Given the description of an element on the screen output the (x, y) to click on. 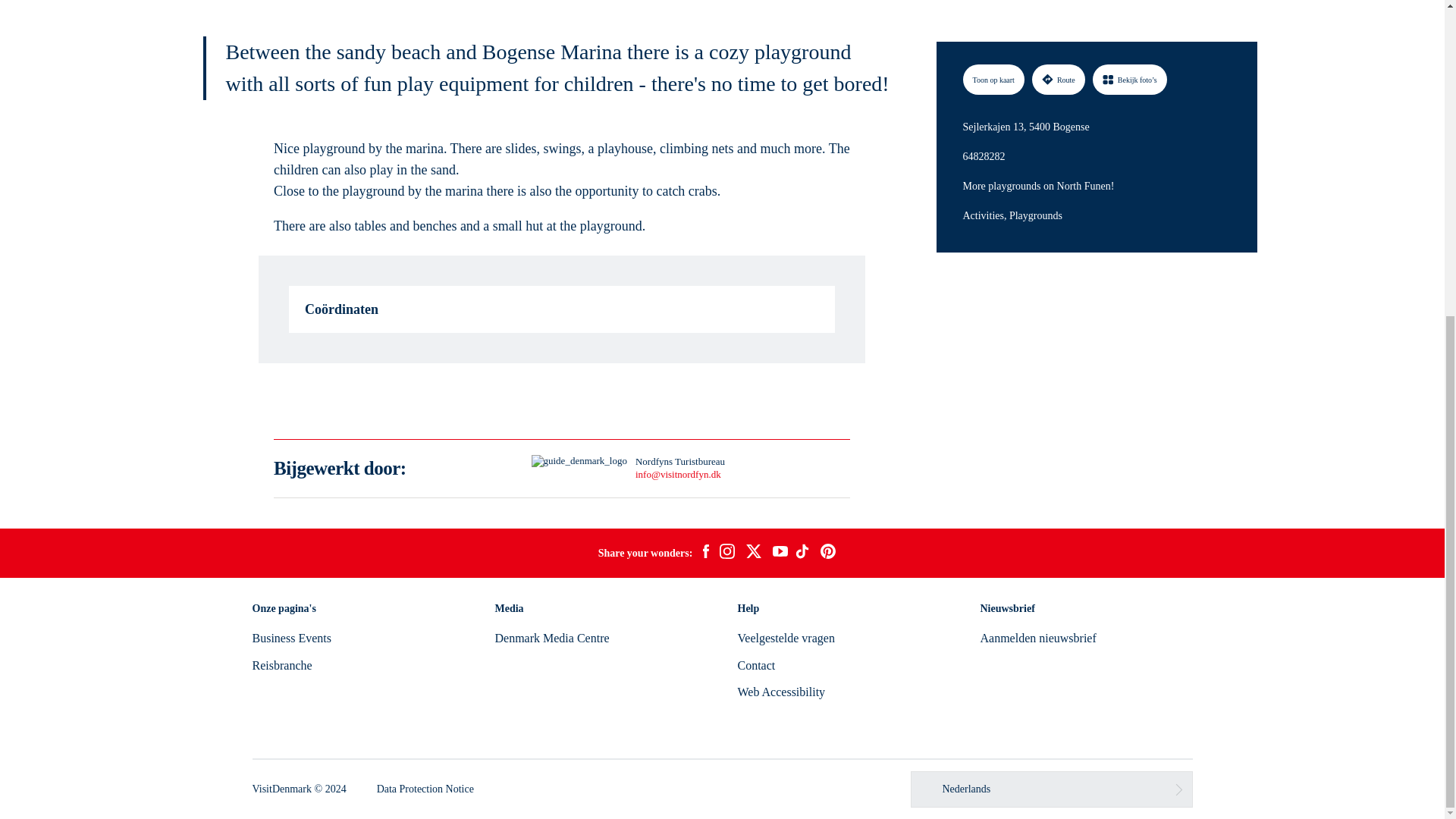
Veelgestelde vragen (785, 637)
Aanmelden nieuwsbrief (1037, 637)
instagram (726, 553)
Veelgestelde vragen (785, 637)
pinterest (828, 553)
Reisbranche (281, 665)
Business Events (290, 637)
Denmark Media Centre (551, 637)
Aanmelden nieuwsbrief (1037, 637)
Business Events (290, 637)
